Given the description of an element on the screen output the (x, y) to click on. 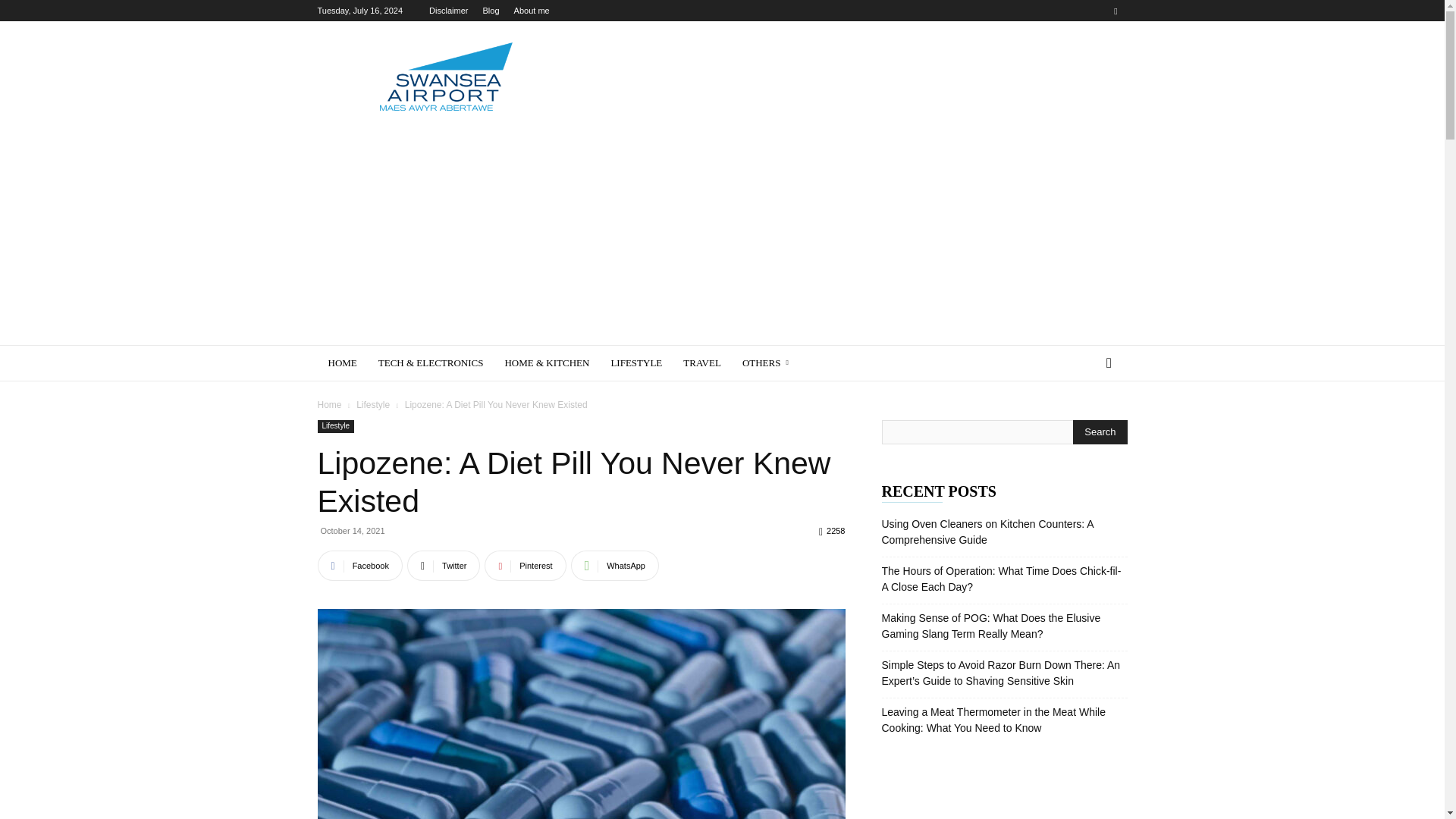
OTHERS (768, 362)
About me (531, 10)
WhatsApp (614, 565)
Facebook (359, 565)
Twitter (443, 565)
WhatsApp (614, 565)
TRAVEL (702, 362)
Facebook (359, 565)
Lifestyle (335, 426)
Pinterest (525, 565)
Blog (490, 10)
LIFESTYLE (635, 362)
Home (328, 404)
Pinterest (525, 565)
HOME (341, 362)
